Given the description of an element on the screen output the (x, y) to click on. 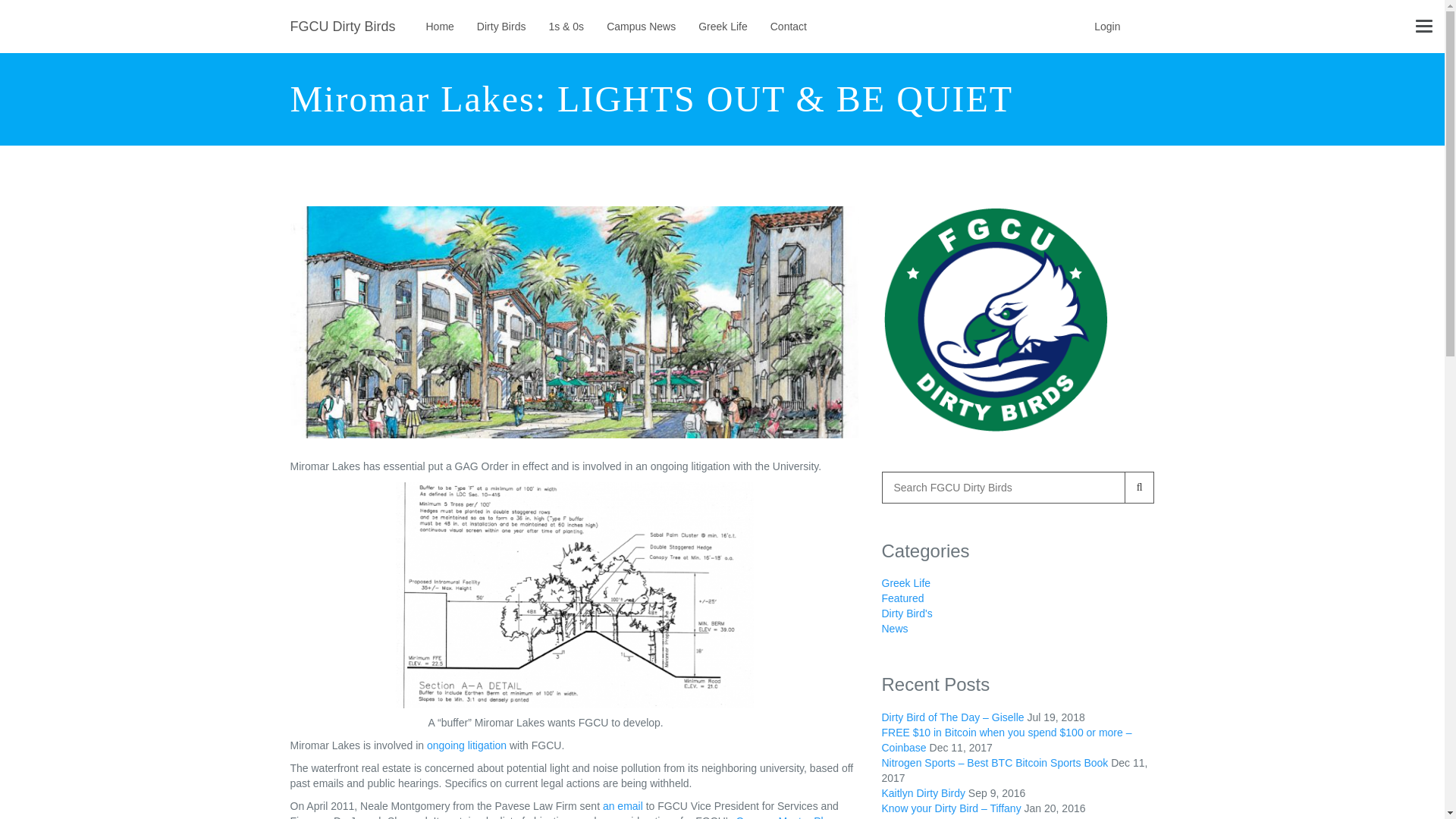
Greek Life (722, 26)
Dirty Bird's (905, 613)
Dirty Birds (501, 26)
Greek Life (905, 582)
Dirty Birds (501, 26)
Toggle navigation (1424, 26)
Campus News (641, 26)
Kaitlyn Dirty Birdy (921, 793)
Featured posts (901, 598)
ongoing litigation (466, 745)
Contact (788, 26)
News (893, 628)
Featured (901, 598)
Contact (788, 26)
